Given the description of an element on the screen output the (x, y) to click on. 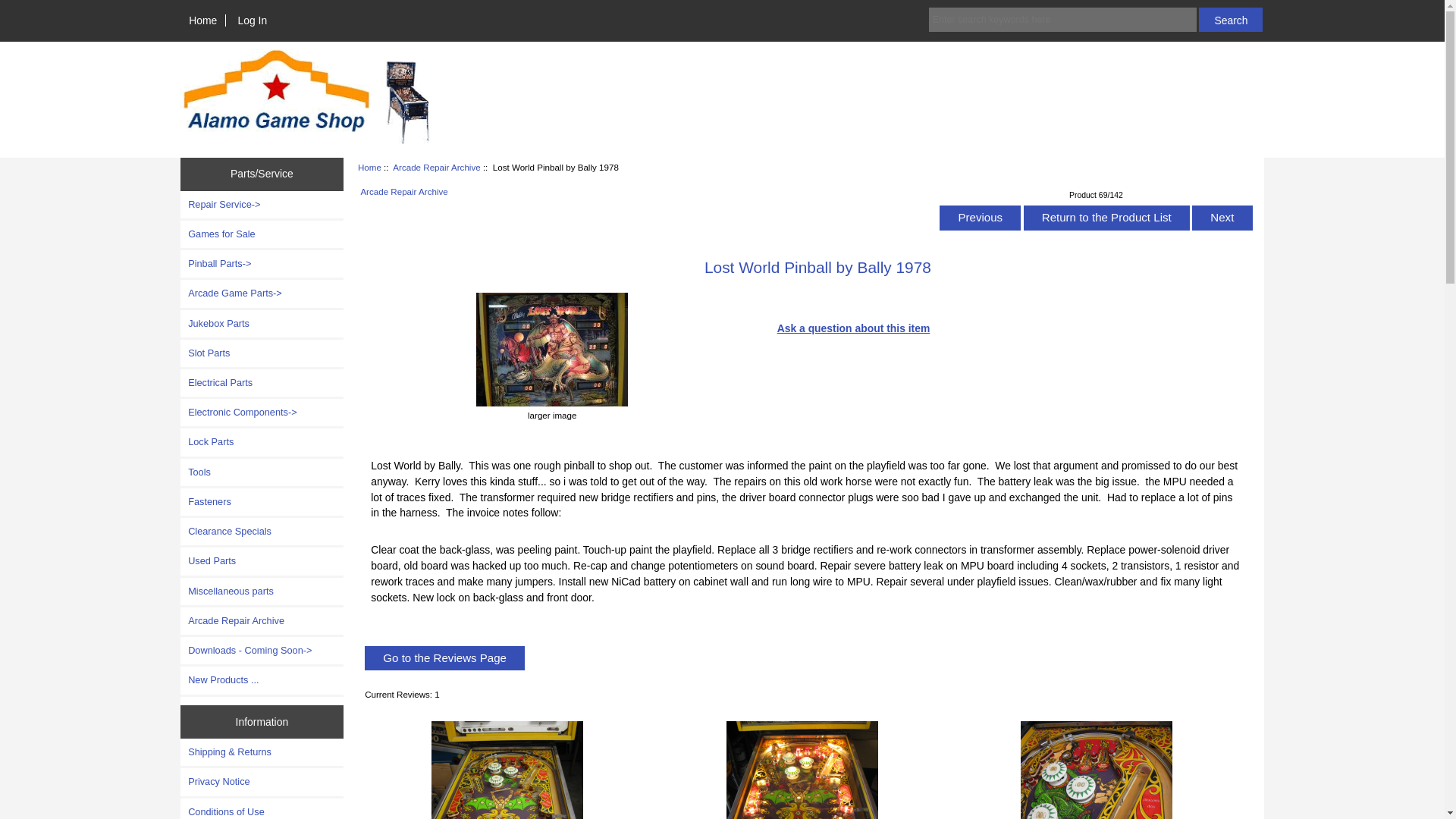
Jukebox Parts (261, 323)
Clearance Specials (261, 531)
larger image (551, 409)
Slot Parts (261, 352)
Tools (261, 472)
Conditions of Use (261, 808)
Alamo Game Shop (306, 98)
Lost World Pinball by Bally 1978 (506, 770)
Home (369, 166)
 Next  (1222, 217)
 Previous  (979, 217)
Log In (251, 20)
 Return to the Product List  (1106, 217)
Electrical Parts (261, 382)
Search (1230, 19)
